Given the description of an element on the screen output the (x, y) to click on. 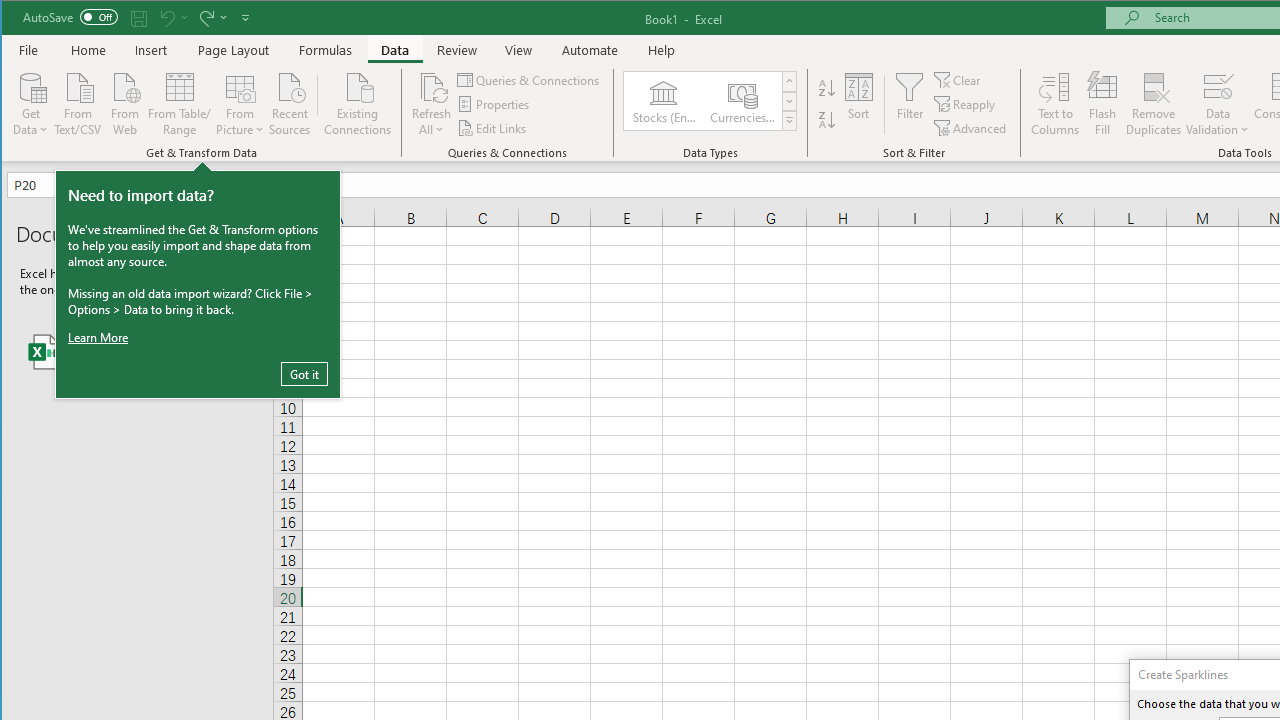
Name Box (49, 184)
Data Validation... (1217, 104)
From Text/CSV (77, 101)
Data Types (789, 120)
Insert (151, 50)
Class: NetUIImage (789, 120)
Name Box (57, 184)
Sort... (859, 104)
System (19, 18)
Book1 (version 1).xlsb  [AutoRecovered] (137, 352)
Edit Links (493, 127)
Data Validation... (1217, 86)
Save (139, 17)
